Given the description of an element on the screen output the (x, y) to click on. 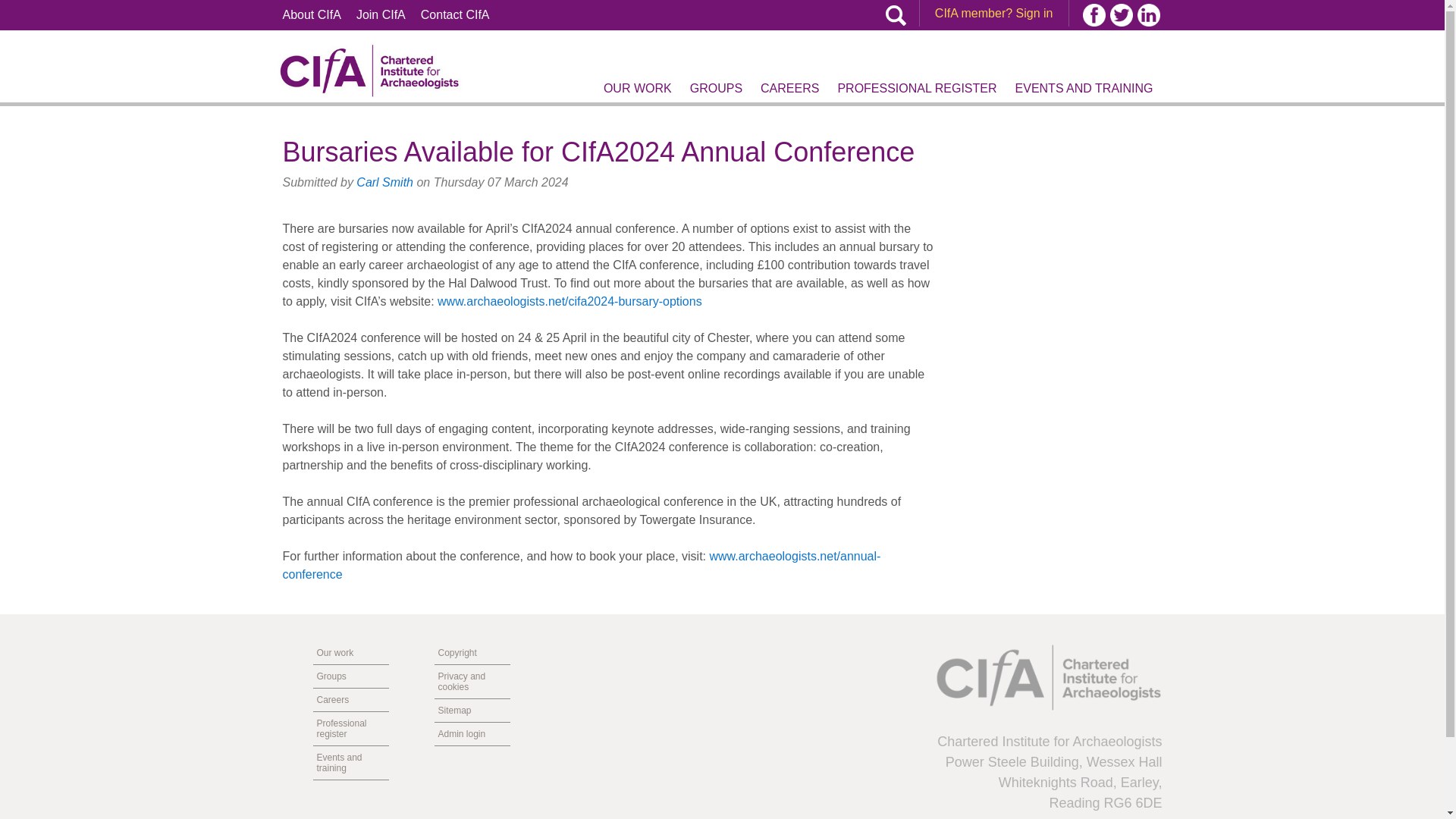
About CIfA (311, 15)
CIfA member? Sign in (993, 12)
Join CIfA (381, 15)
Log in (948, 89)
About CIfA (311, 15)
Contact CIfA (455, 15)
Join CIfA (381, 15)
Search (911, 68)
OUR WORK (637, 88)
Contact CIfA (455, 15)
